Given the description of an element on the screen output the (x, y) to click on. 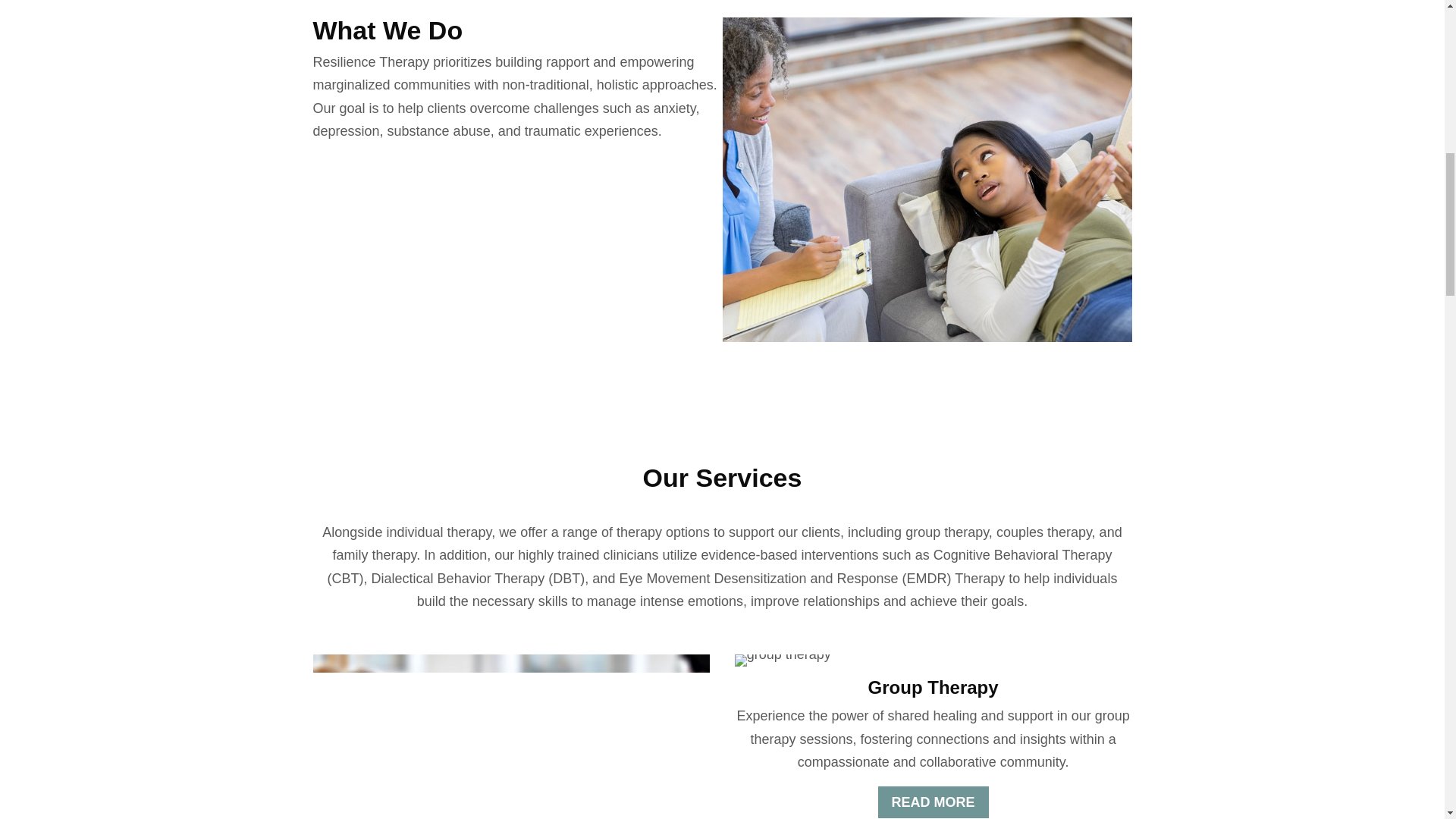
individual-therapy-new (511, 736)
READ MORE (932, 801)
group therapy (783, 660)
about us image (926, 179)
